Given the description of an element on the screen output the (x, y) to click on. 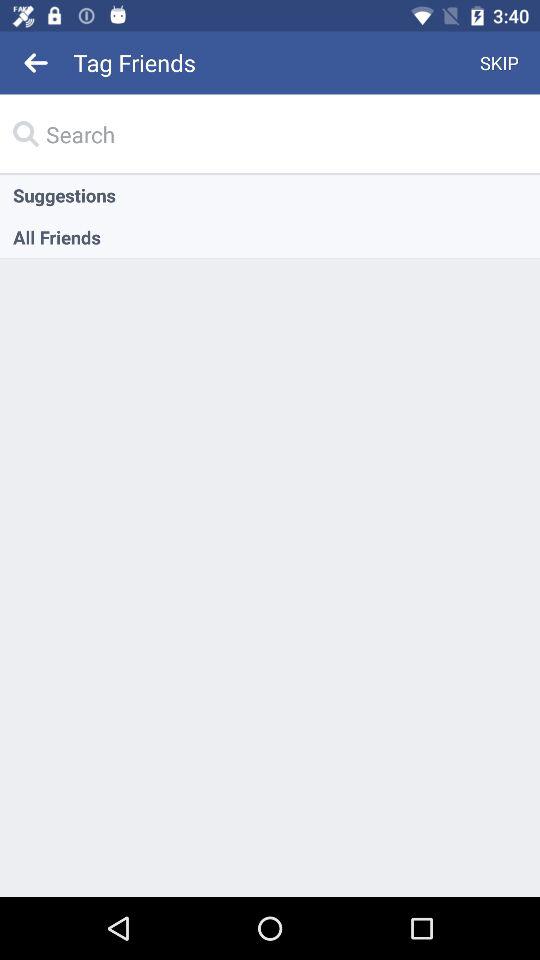
open the item at the top right corner (499, 62)
